Given the description of an element on the screen output the (x, y) to click on. 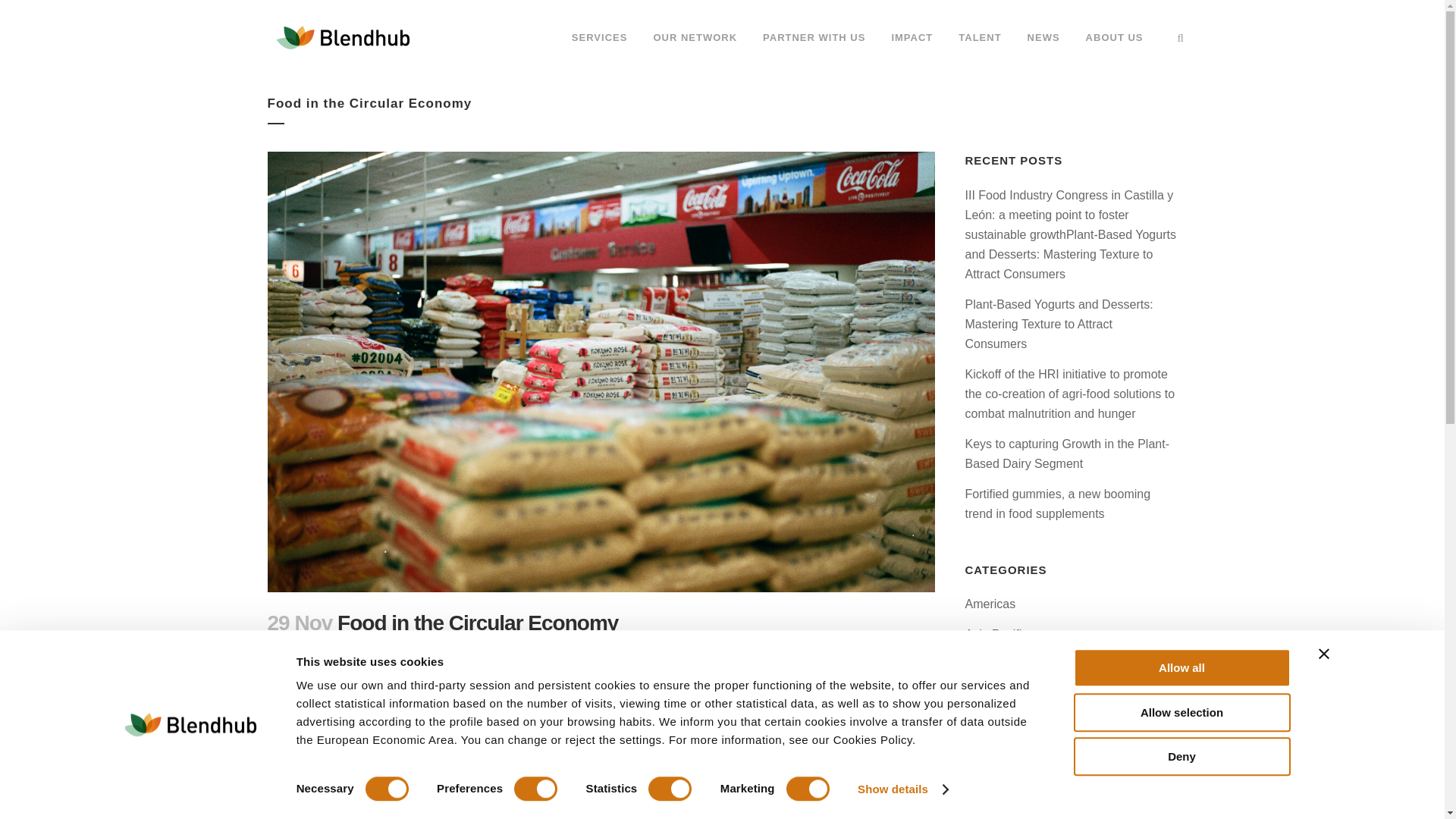
Show details (902, 789)
